Given the description of an element on the screen output the (x, y) to click on. 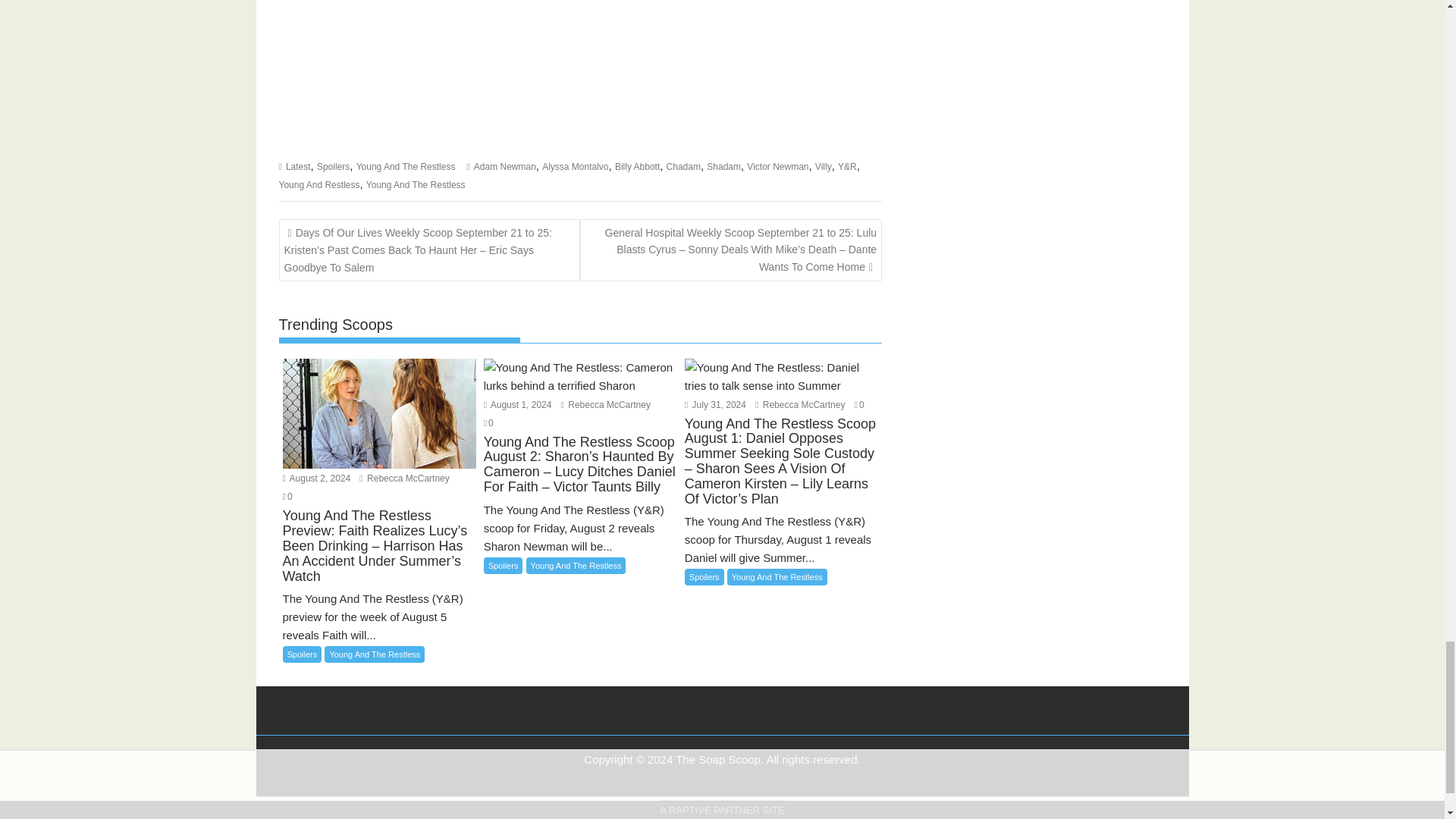
Rebecca McCartney (799, 404)
Rebecca McCartney (605, 404)
Rebecca McCartney (403, 478)
